Given the description of an element on the screen output the (x, y) to click on. 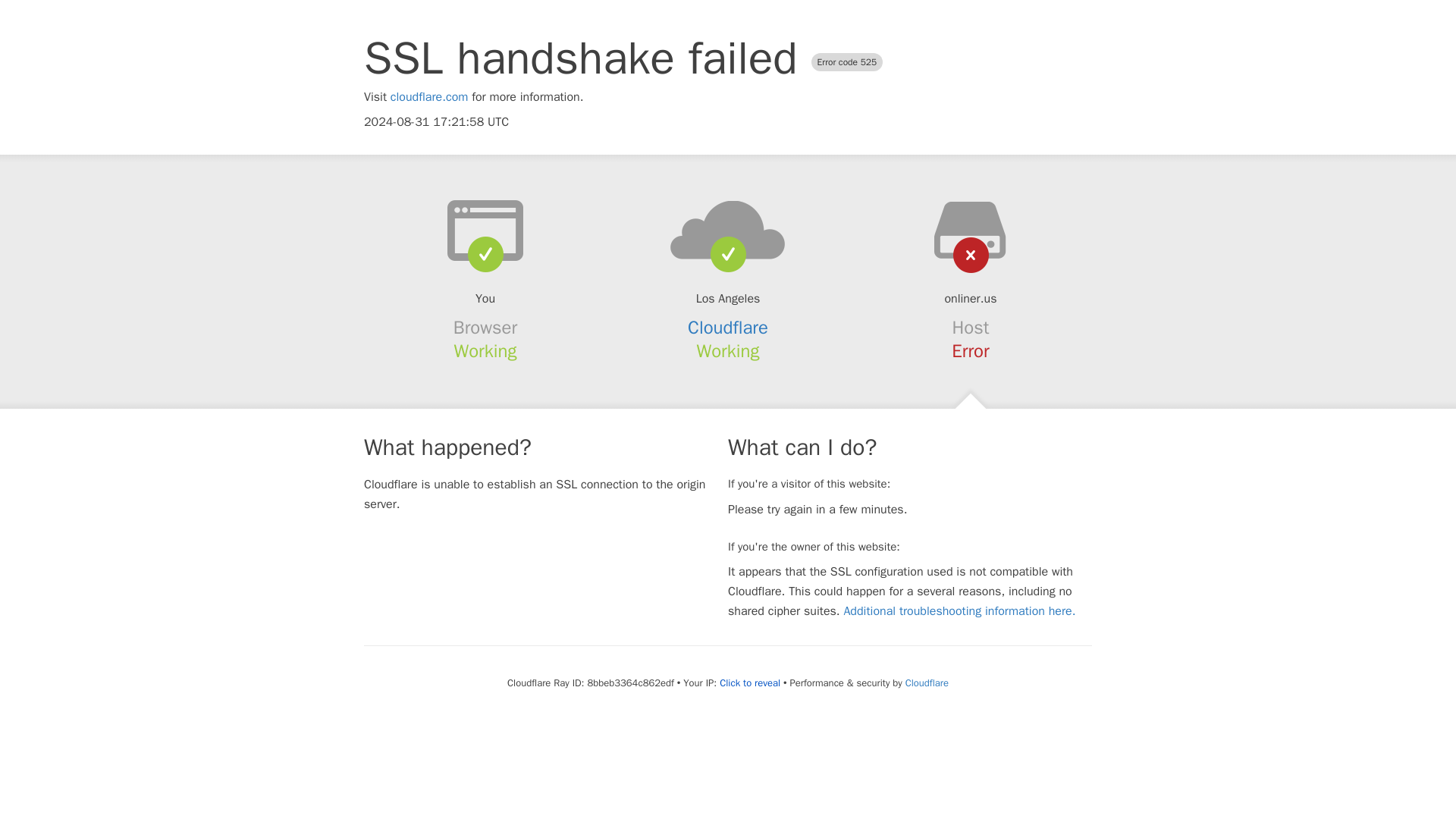
Additional troubleshooting information here. (959, 611)
Click to reveal (749, 683)
cloudflare.com (429, 96)
Cloudflare (727, 327)
Cloudflare (927, 682)
